Given the description of an element on the screen output the (x, y) to click on. 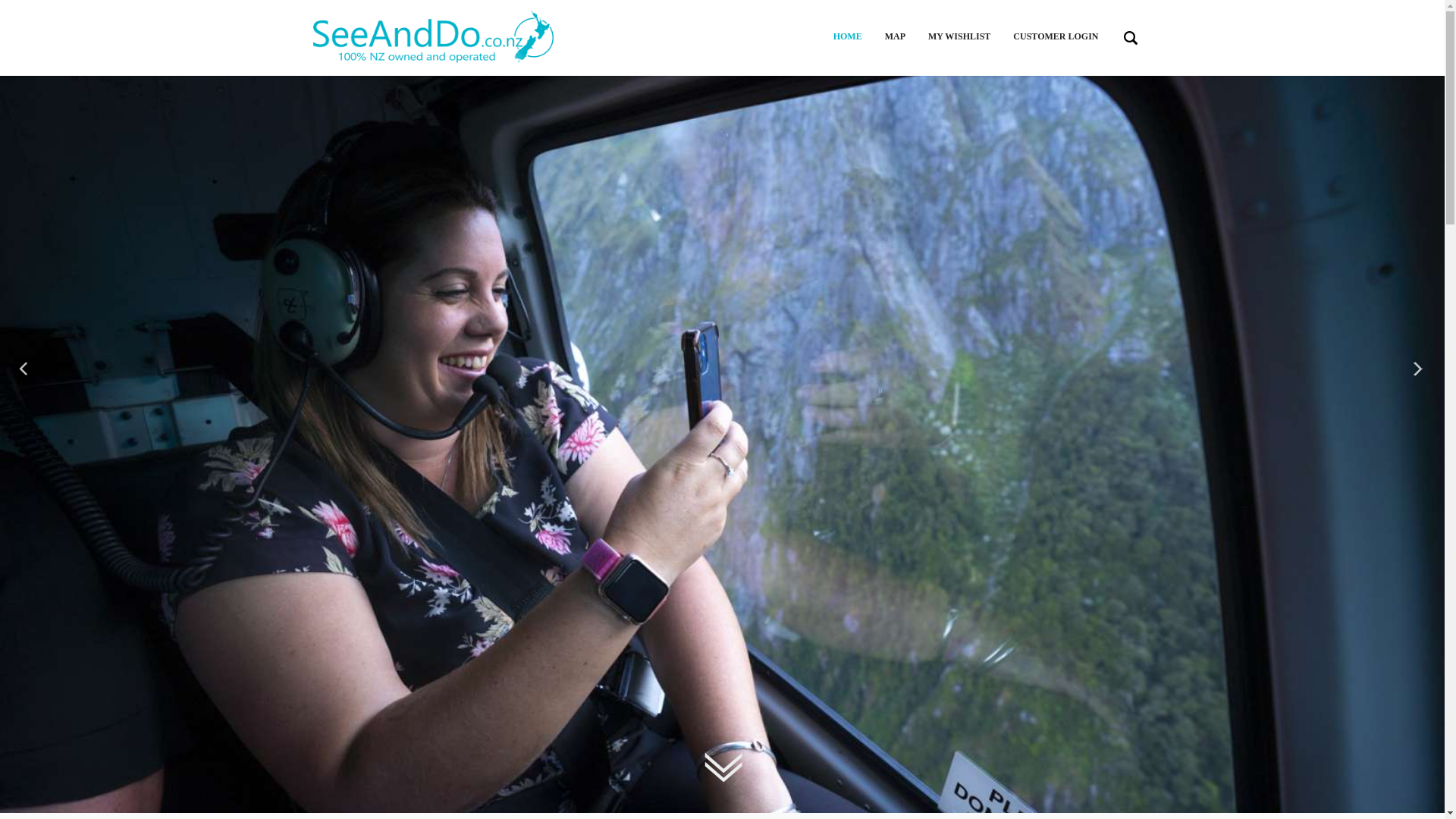
Scroll Down for Things to Do! (722, 767)
MAP (895, 36)
MY WISHLIST (959, 36)
CUSTOMER LOGIN (1055, 36)
HOME (846, 36)
Previous (25, 370)
HOME (846, 36)
Next (1417, 370)
